Given the description of an element on the screen output the (x, y) to click on. 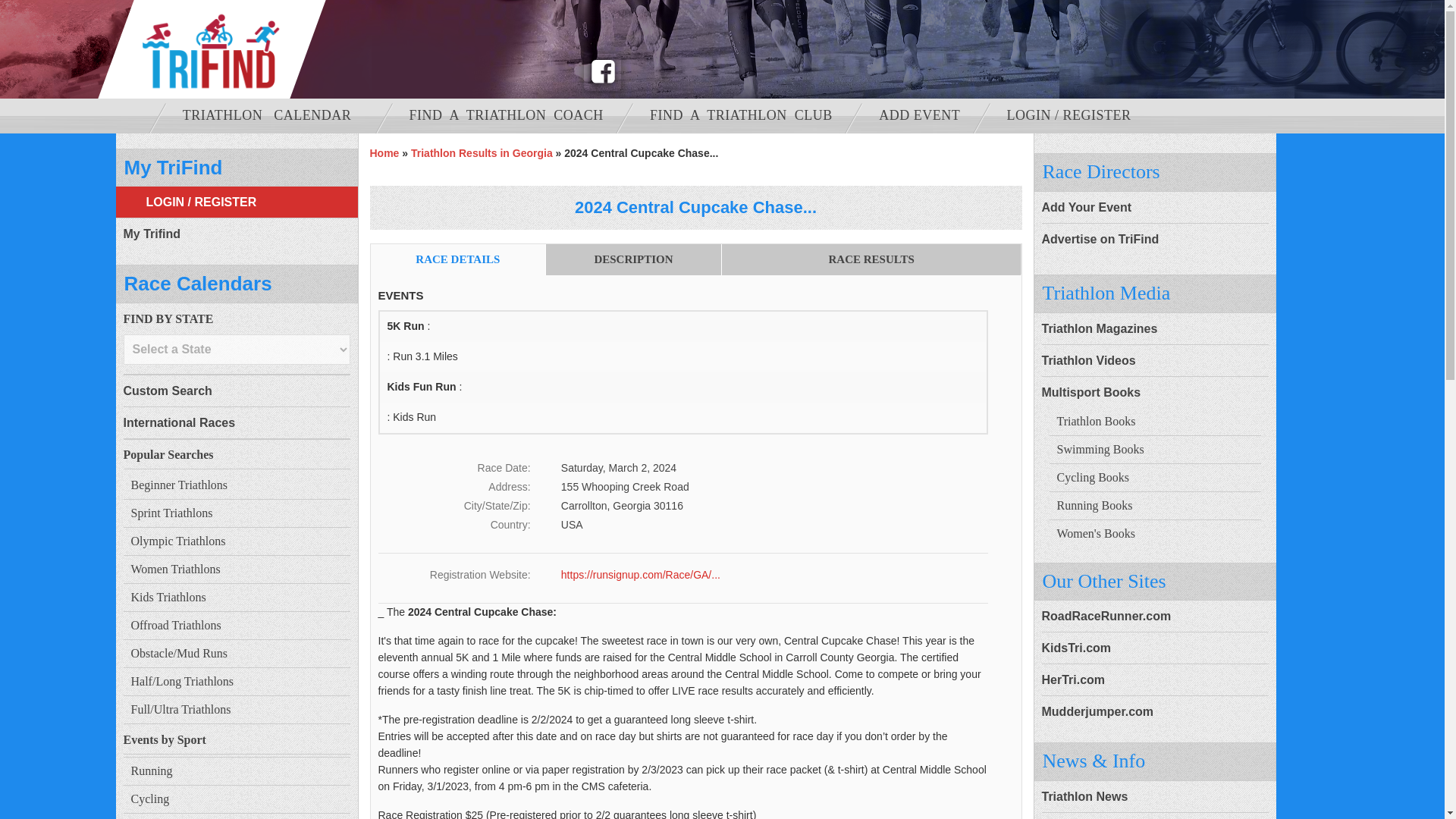
TRIATHLON   CALENDAR (272, 115)
